Given the description of an element on the screen output the (x, y) to click on. 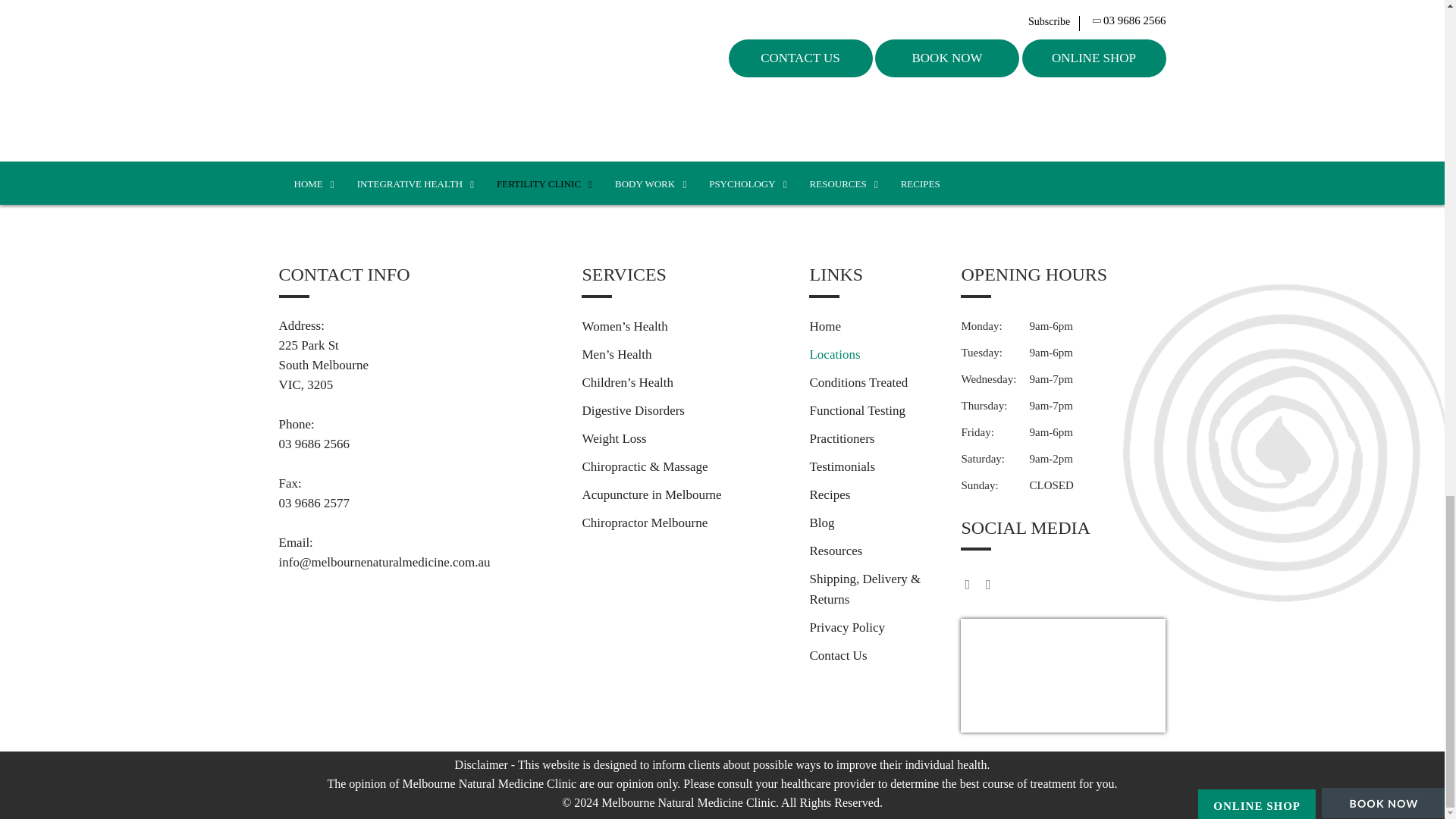
03 9686 2577 (419, 503)
Sign up (1105, 98)
03 9686 2566 (419, 444)
